Given the description of an element on the screen output the (x, y) to click on. 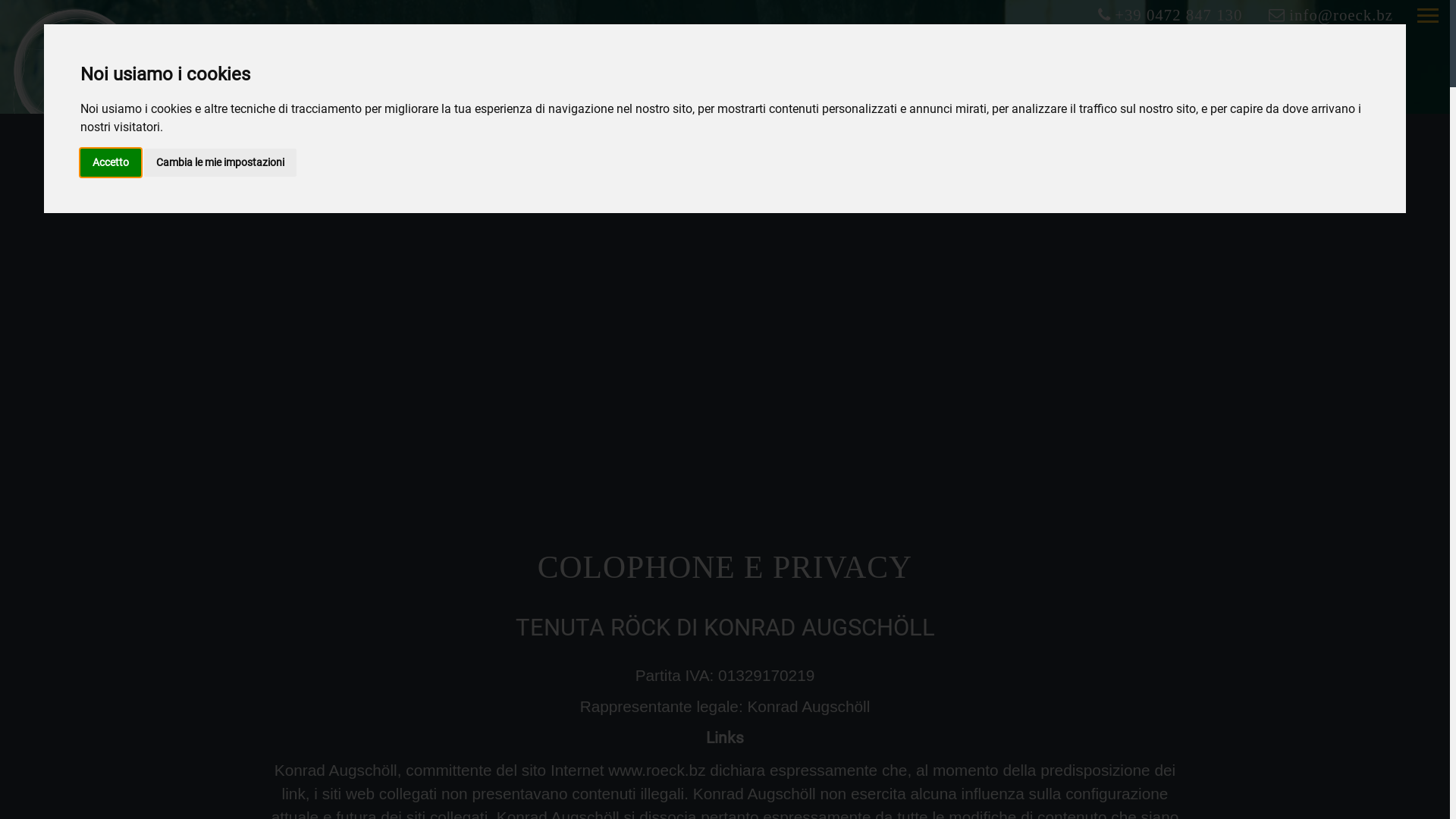
Accetto Element type: text (110, 162)
+39 0472 847 130 Element type: text (1169, 15)
Cambia le mie impostazioni Element type: text (220, 162)
info@roeck.bz Element type: text (1330, 15)
